Given the description of an element on the screen output the (x, y) to click on. 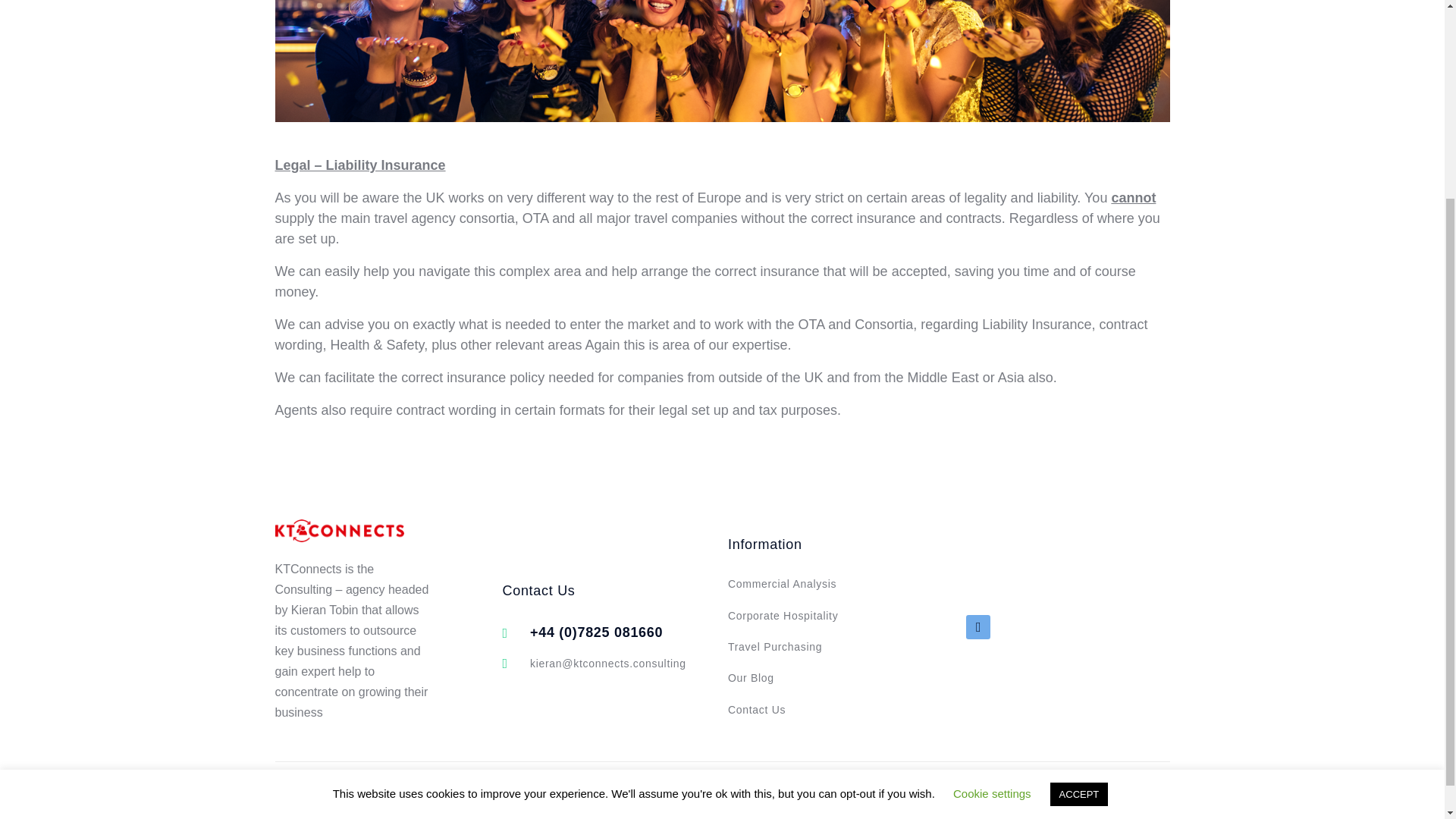
Commercial Analysis (806, 583)
Contact Us (806, 709)
Our Blog (806, 677)
Corporate Hospitality (806, 615)
Travel Purchasing (806, 646)
Cookie settings (991, 531)
